Given the description of an element on the screen output the (x, y) to click on. 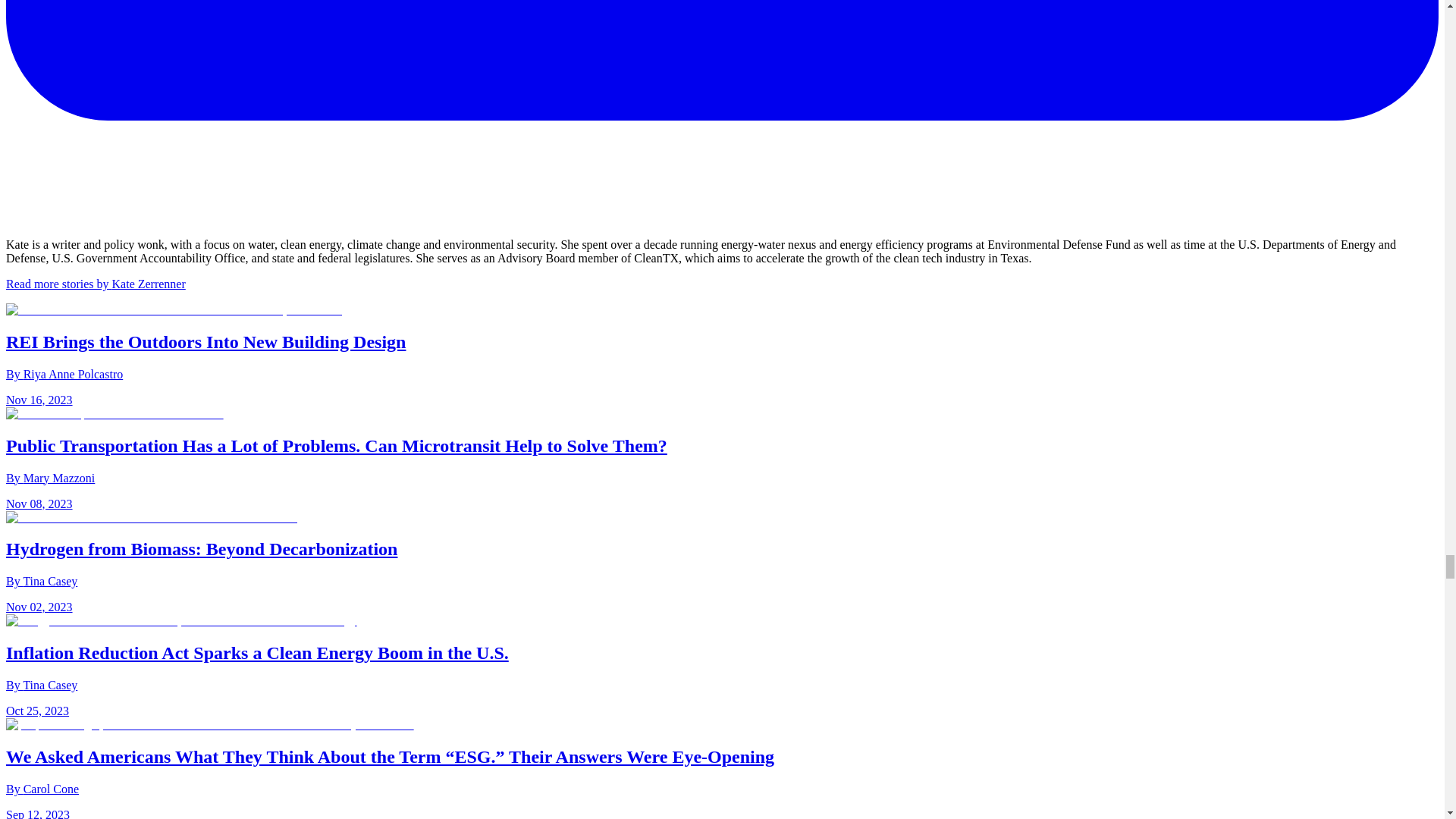
Kate Zerrenner author page (95, 283)
